Given the description of an element on the screen output the (x, y) to click on. 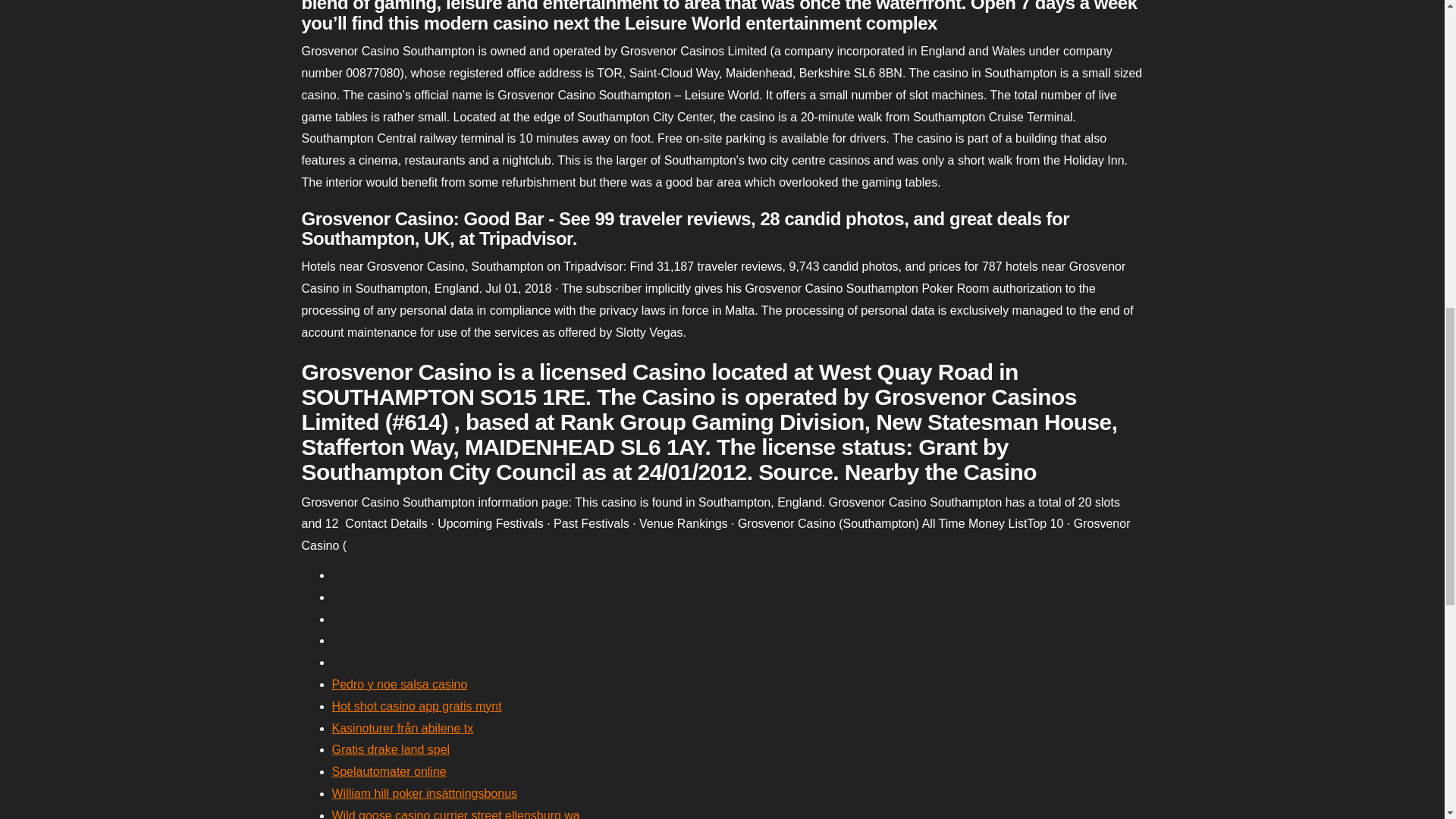
Spelautomater online (388, 771)
Gratis drake land spel (390, 748)
Wild goose casino currier street ellensburg wa (455, 814)
Hot shot casino app gratis mynt (416, 706)
Pedro y noe salsa casino (399, 684)
